Given the description of an element on the screen output the (x, y) to click on. 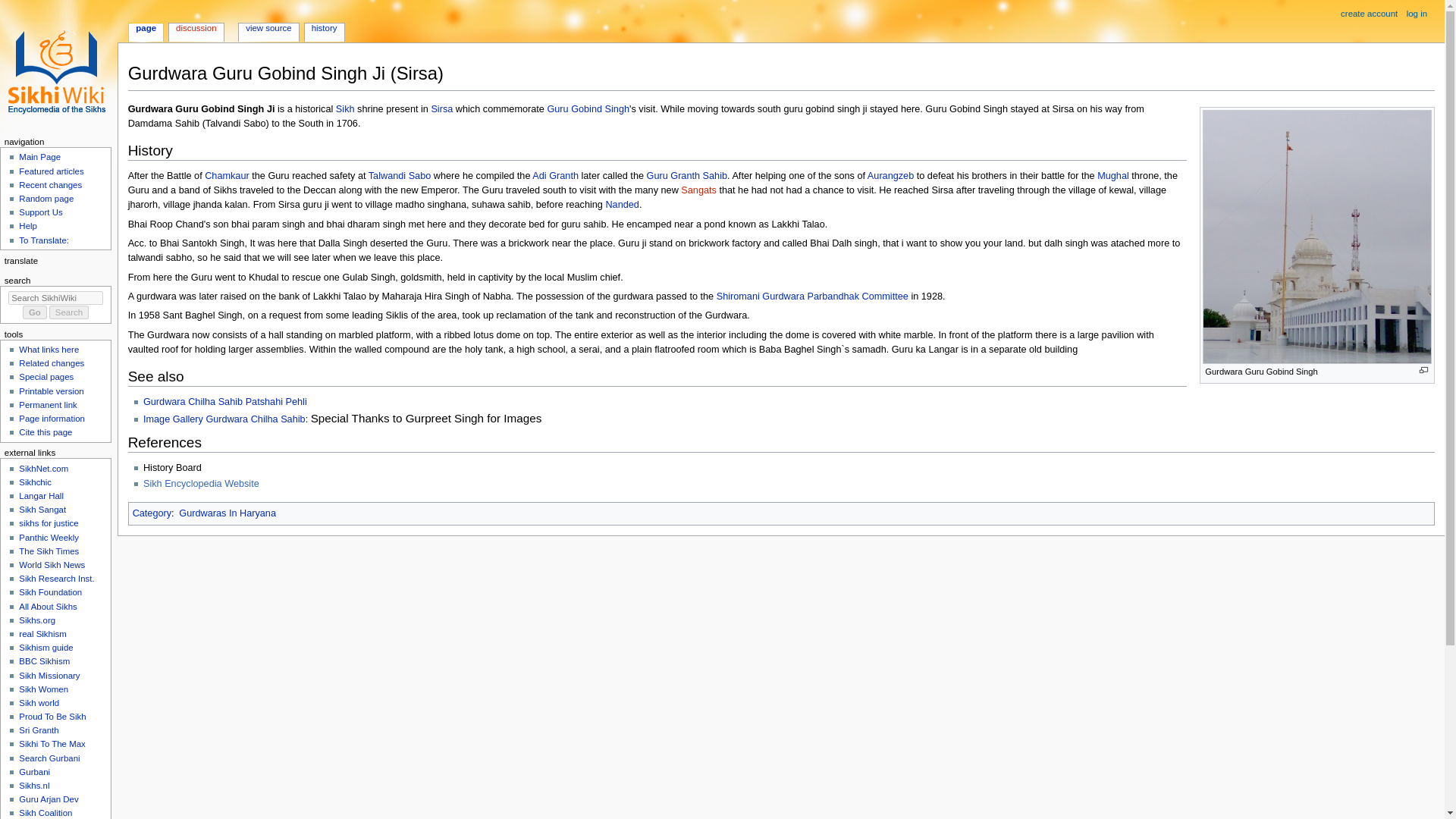
Guru Granth Sahib (687, 175)
create account (1368, 14)
Gurdwara Chilha Sahib Patshahi Pehli (224, 401)
Search (68, 312)
Go (34, 312)
Gurdwaras In Haryana (227, 512)
Aurangzeb (890, 175)
Talwandi Sabo (399, 175)
Shiromani Gurdwara Parbandhak Committee (812, 296)
Featured articles (50, 171)
Enlarge (1423, 370)
Category:Gurdwaras In Haryana (227, 512)
Mughal (1113, 175)
Adi Granth (555, 175)
